Given the description of an element on the screen output the (x, y) to click on. 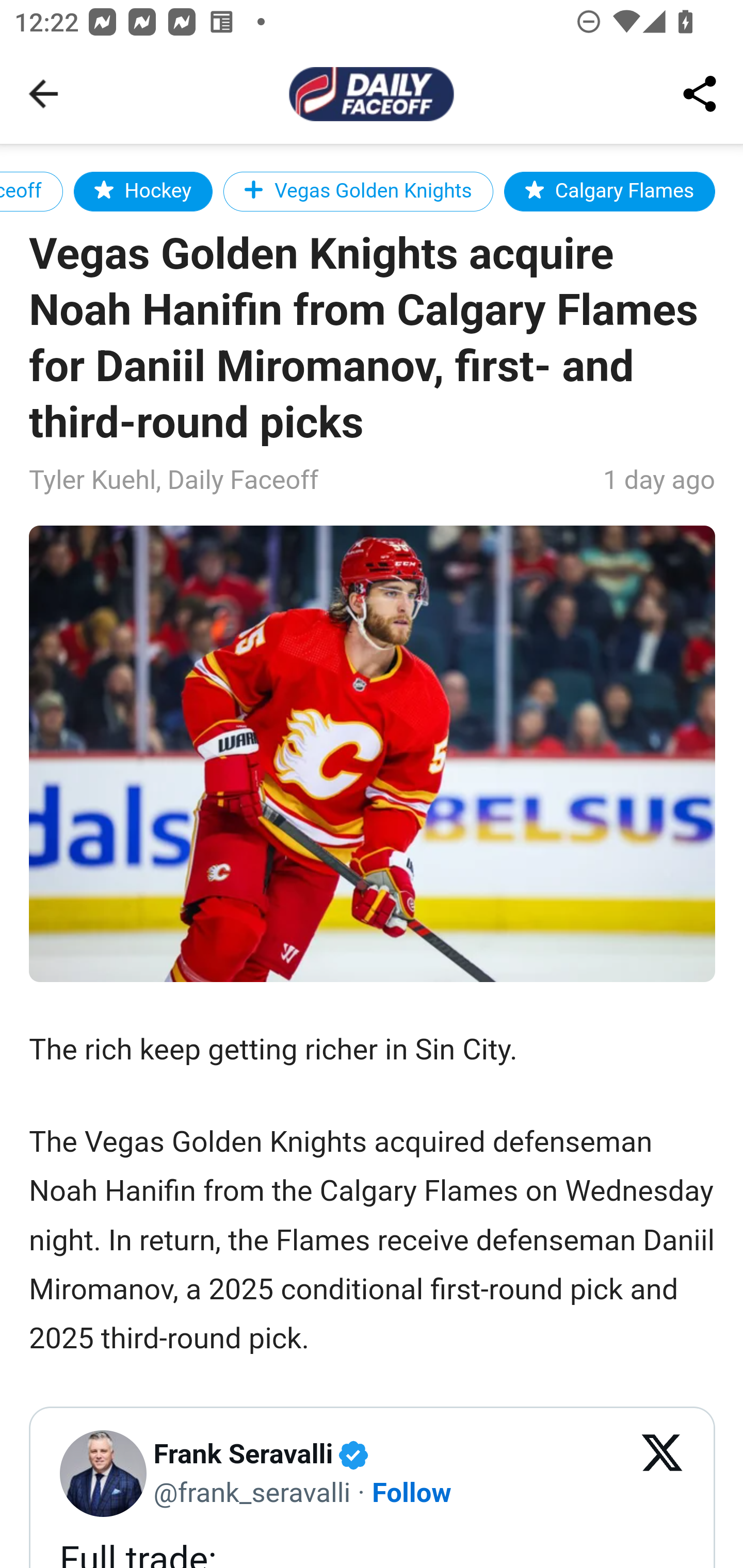
Hockey (142, 191)
Vegas Golden Knights (358, 191)
Calgary Flames (609, 191)
View on X (662, 1473)
@frank_seravalli (251, 1490)
Follow (412, 1490)
